Given the description of an element on the screen output the (x, y) to click on. 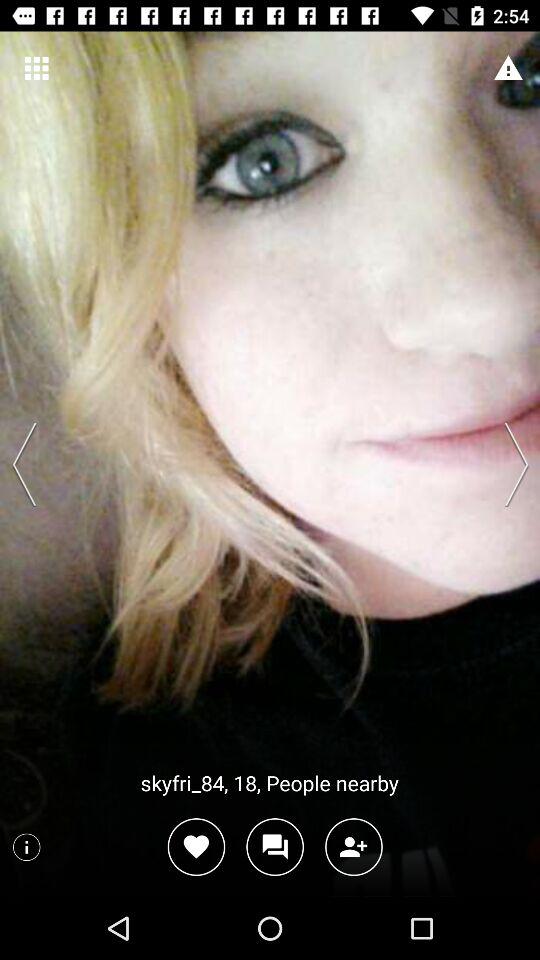
like post (196, 846)
